Given the description of an element on the screen output the (x, y) to click on. 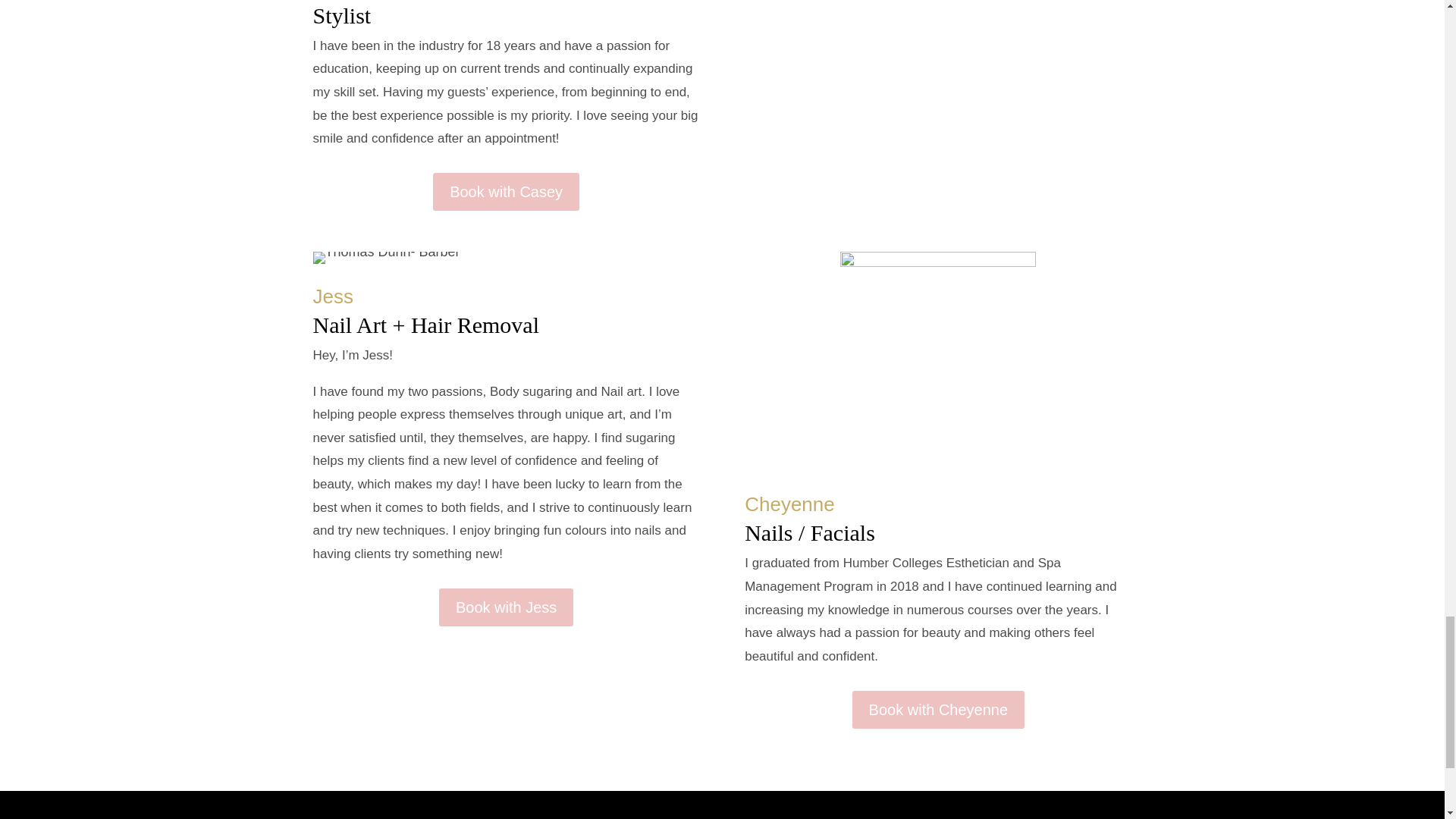
Book with Casey (505, 191)
Book with Cheyenne (938, 709)
Book with Jess (506, 607)
jessheadshot (386, 257)
cheyenne (937, 350)
